Given the description of an element on the screen output the (x, y) to click on. 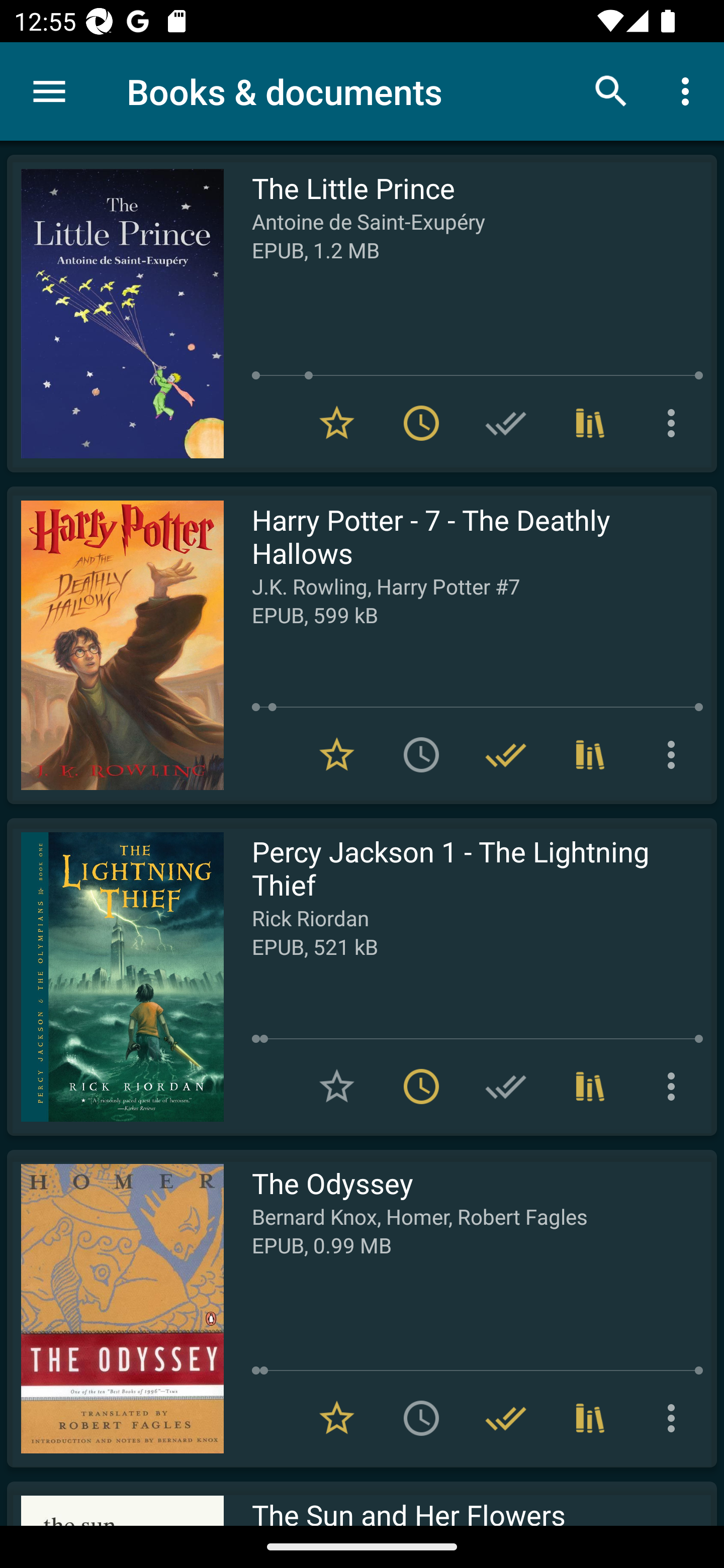
Menu (49, 91)
Search books & documents (611, 90)
More options (688, 90)
Read The Little Prince (115, 313)
Remove from Favorites (336, 423)
Remove from To read (421, 423)
Add to Have read (505, 423)
Collections (1) (590, 423)
More options (674, 423)
Read Harry Potter - 7 - The Deathly Hallows (115, 645)
Remove from Favorites (336, 753)
Add to To read (421, 753)
Remove from Have read (505, 753)
Collections (3) (590, 753)
More options (674, 753)
Read Percy Jackson 1 - The Lightning Thief (115, 976)
Add to Favorites (336, 1086)
Remove from To read (421, 1086)
Add to Have read (505, 1086)
Collections (1) (590, 1086)
More options (674, 1086)
Read The Odyssey (115, 1308)
Remove from Favorites (336, 1417)
Add to To read (421, 1417)
Remove from Have read (505, 1417)
Collections (2) (590, 1417)
More options (674, 1417)
